Given the description of an element on the screen output the (x, y) to click on. 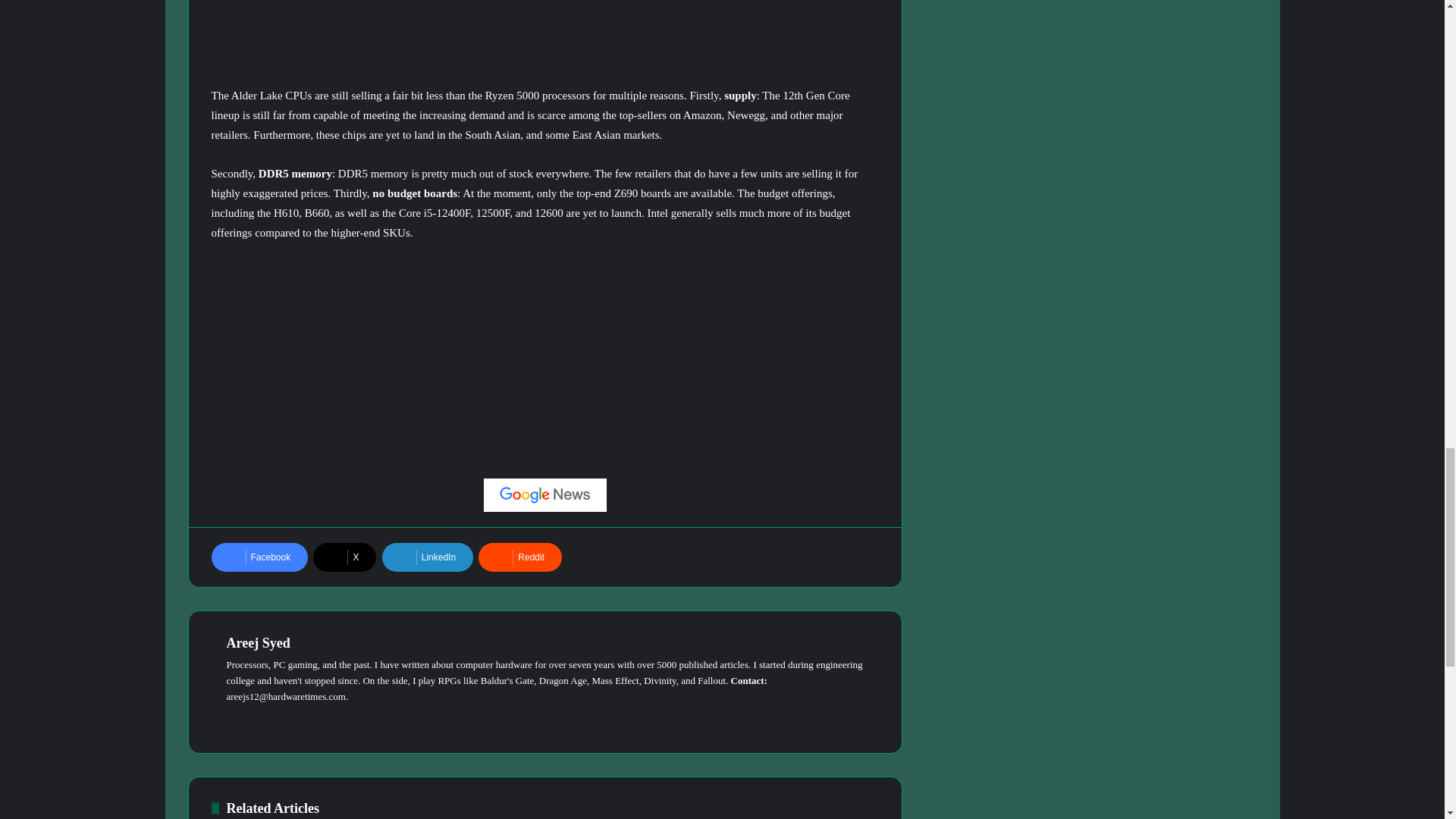
X (344, 556)
Facebook (259, 556)
LinkedIn (427, 556)
